Given the description of an element on the screen output the (x, y) to click on. 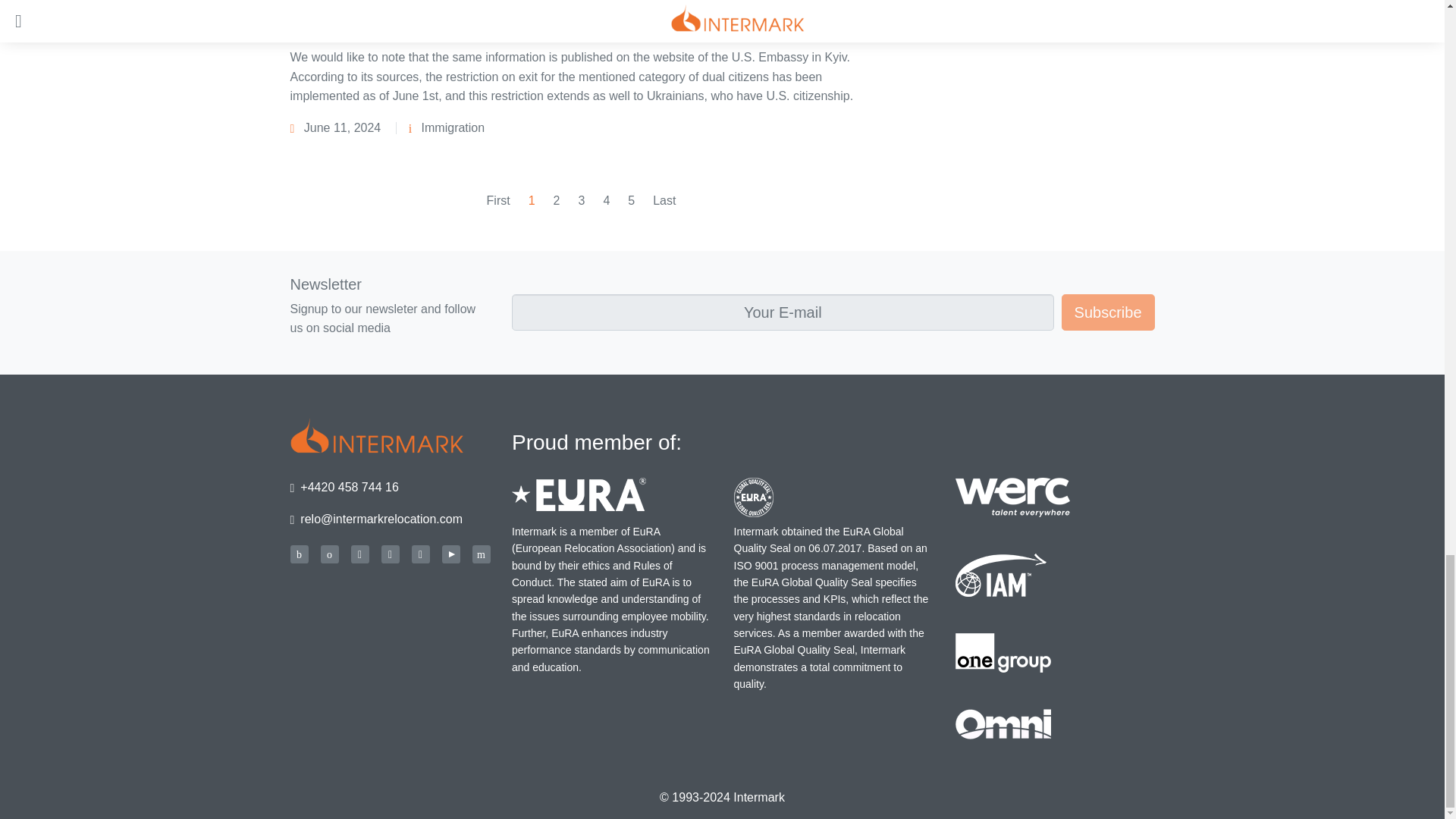
Linked In (389, 554)
Apple podcast (328, 554)
Castbox.fm (298, 554)
Facebook (359, 554)
Instagram (419, 554)
Telegram (480, 554)
YouTube (450, 554)
